Given the description of an element on the screen output the (x, y) to click on. 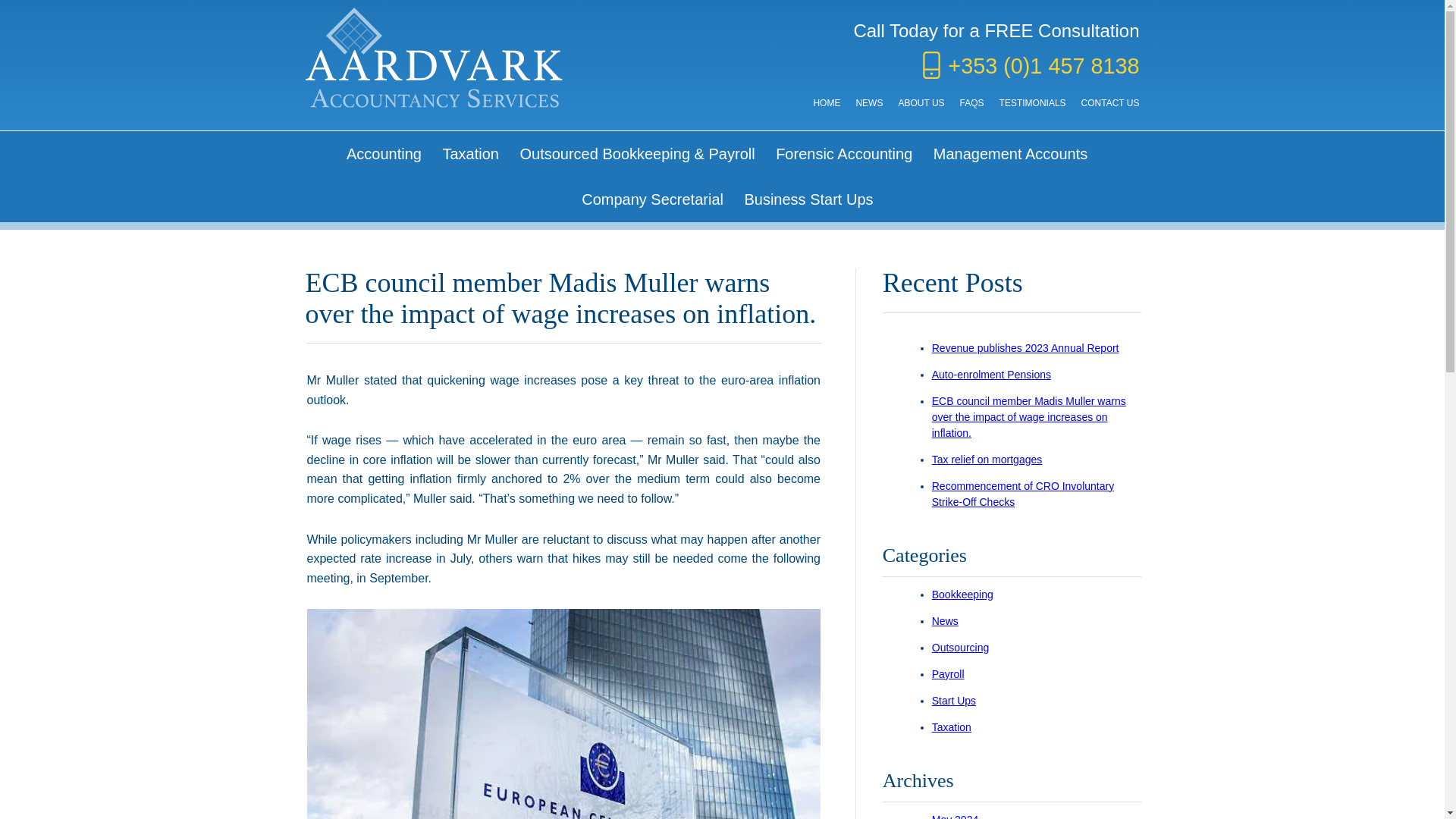
Payroll (947, 674)
Recommencement of CRO Involuntary Strike-Off Checks (1022, 492)
TESTIMONIALS (1031, 102)
Outsourcing (959, 647)
Taxation (470, 153)
May 2024 (954, 816)
NEWS (869, 102)
Tax relief on mortgages (986, 459)
Business Start Ups (808, 199)
HOME (826, 102)
Revenue publishes 2023 Annual Report (1025, 346)
ABOUT US (920, 102)
CONTACT US (1110, 102)
Management Accounts (1010, 153)
